Given the description of an element on the screen output the (x, y) to click on. 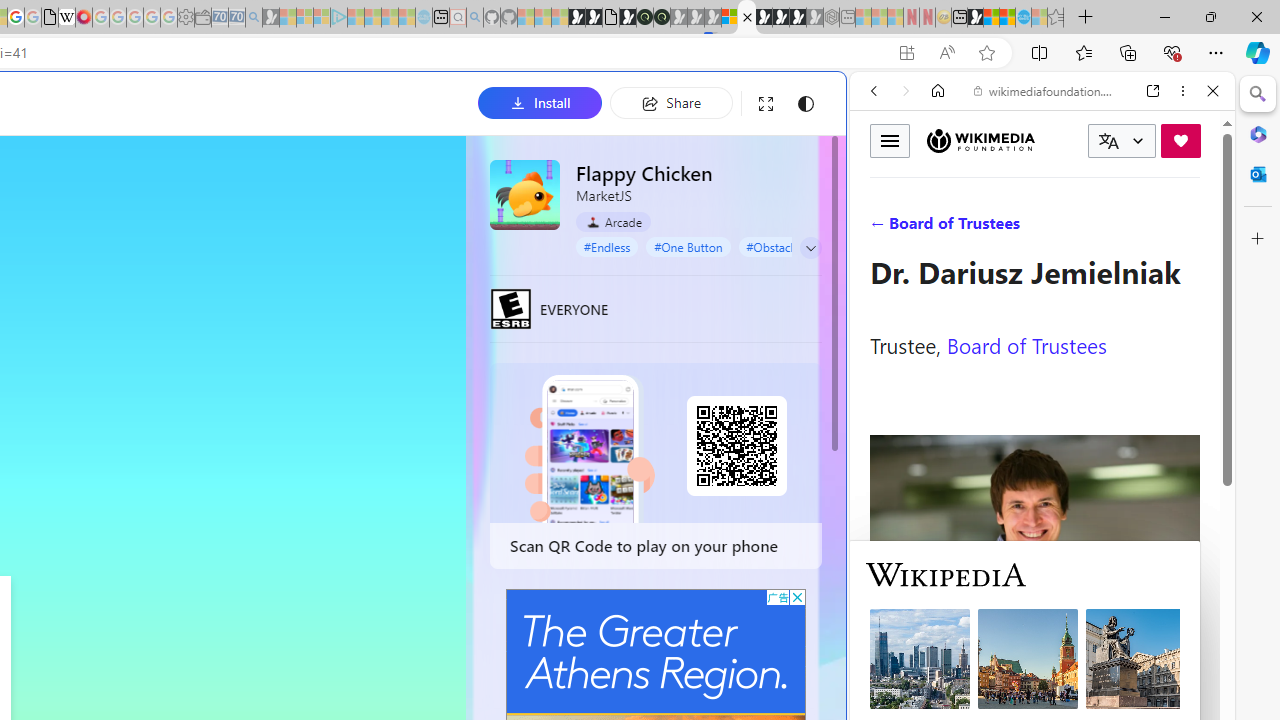
Class: b_serphb (1190, 229)
Preferences (1189, 228)
Microsoft Start - Sleeping (389, 17)
MediaWiki (83, 17)
